Given the description of an element on the screen output the (x, y) to click on. 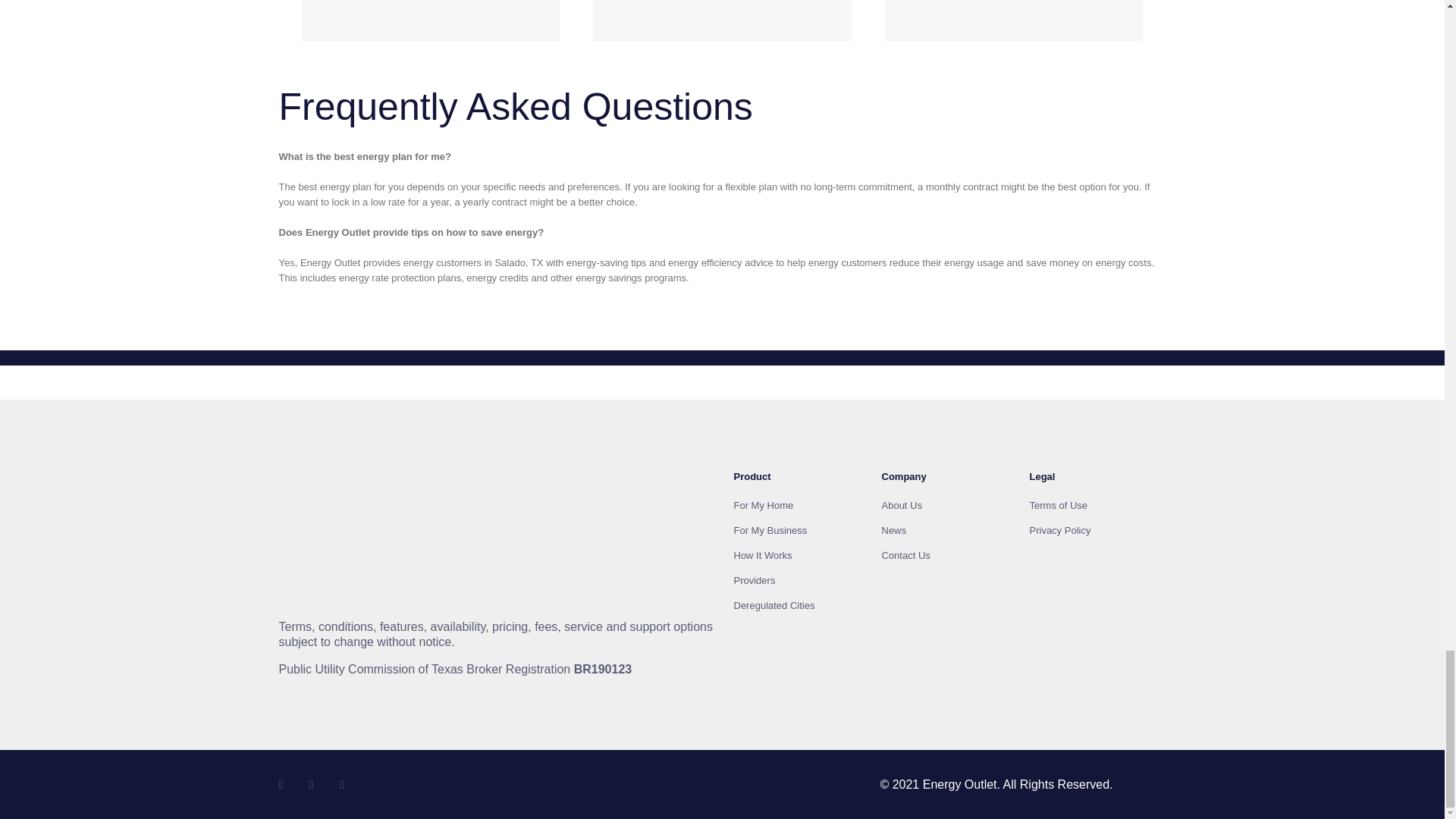
Discount Energy Plans (360, 483)
